Given the description of an element on the screen output the (x, y) to click on. 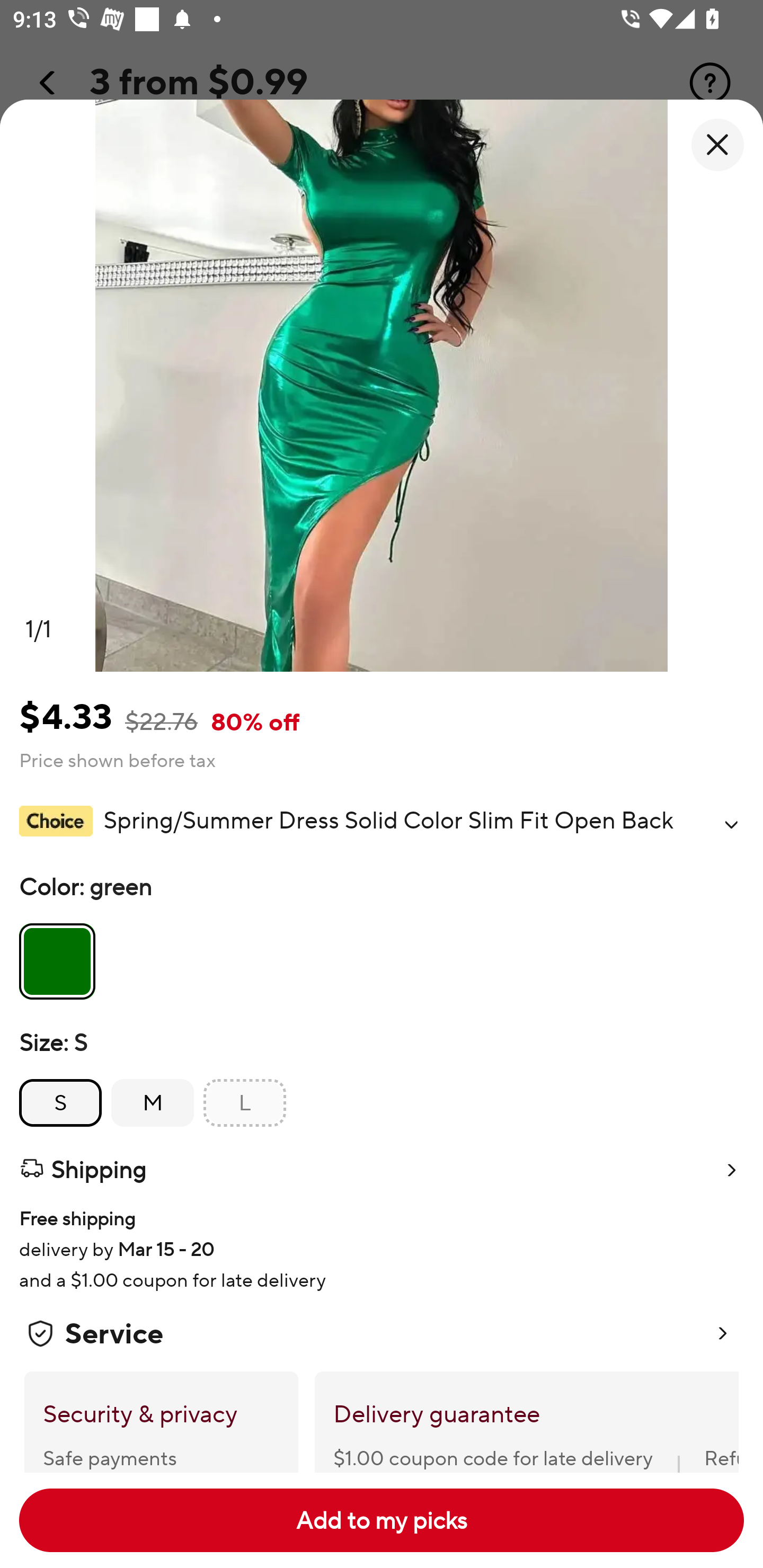
close  (717, 144)
 (730, 824)
S (60, 1102)
M (152, 1102)
L (244, 1102)
Add to my picks (381, 1520)
